Given the description of an element on the screen output the (x, y) to click on. 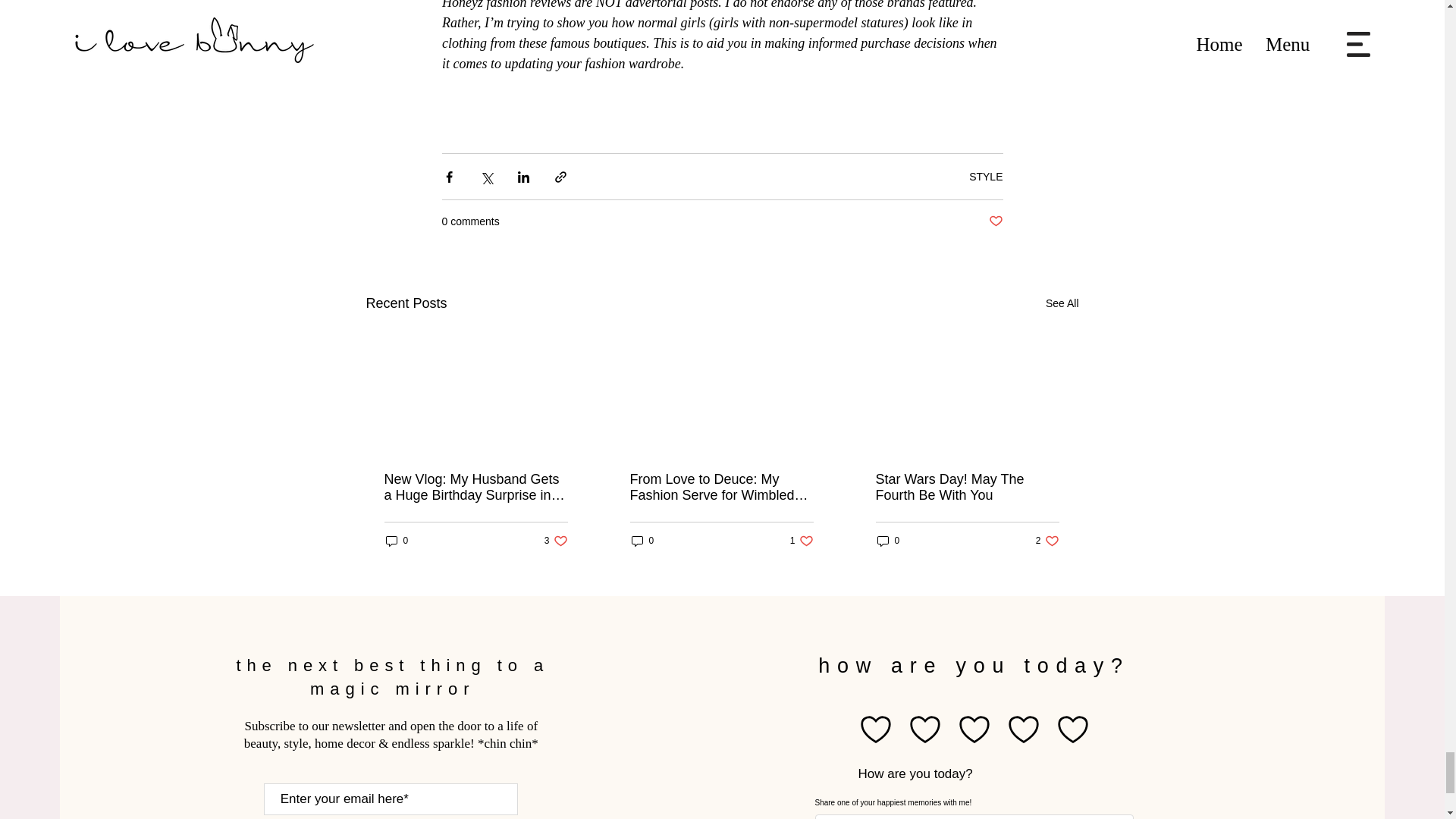
STYLE (986, 176)
0 (641, 540)
0 (396, 540)
See All (555, 540)
Post not marked as liked (1061, 303)
